Given the description of an element on the screen output the (x, y) to click on. 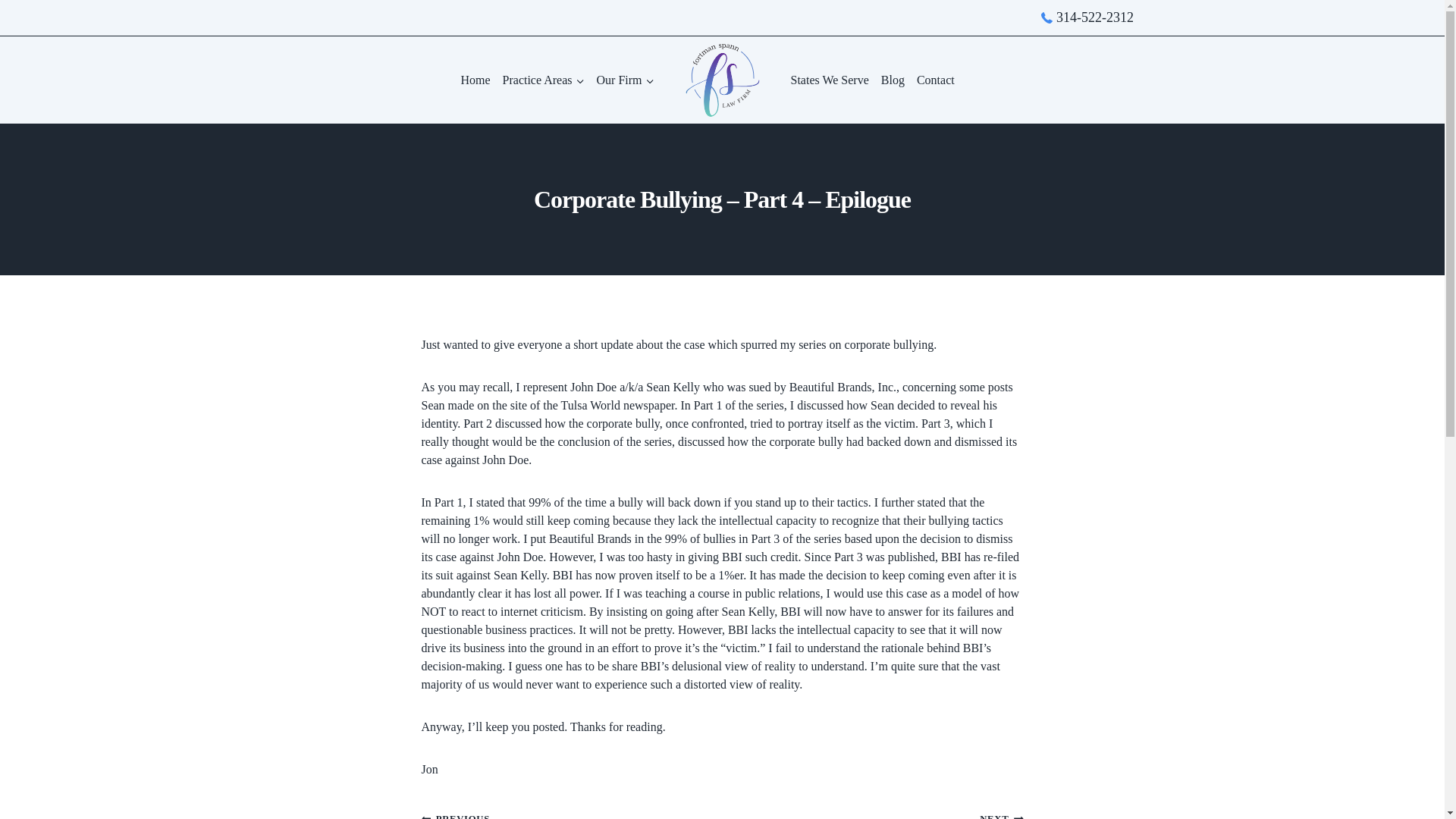
314-522-2312 (1087, 17)
Our Firm (624, 79)
States We Serve (829, 80)
Home (475, 79)
Contact (935, 80)
Practice Areas (543, 79)
